Given the description of an element on the screen output the (x, y) to click on. 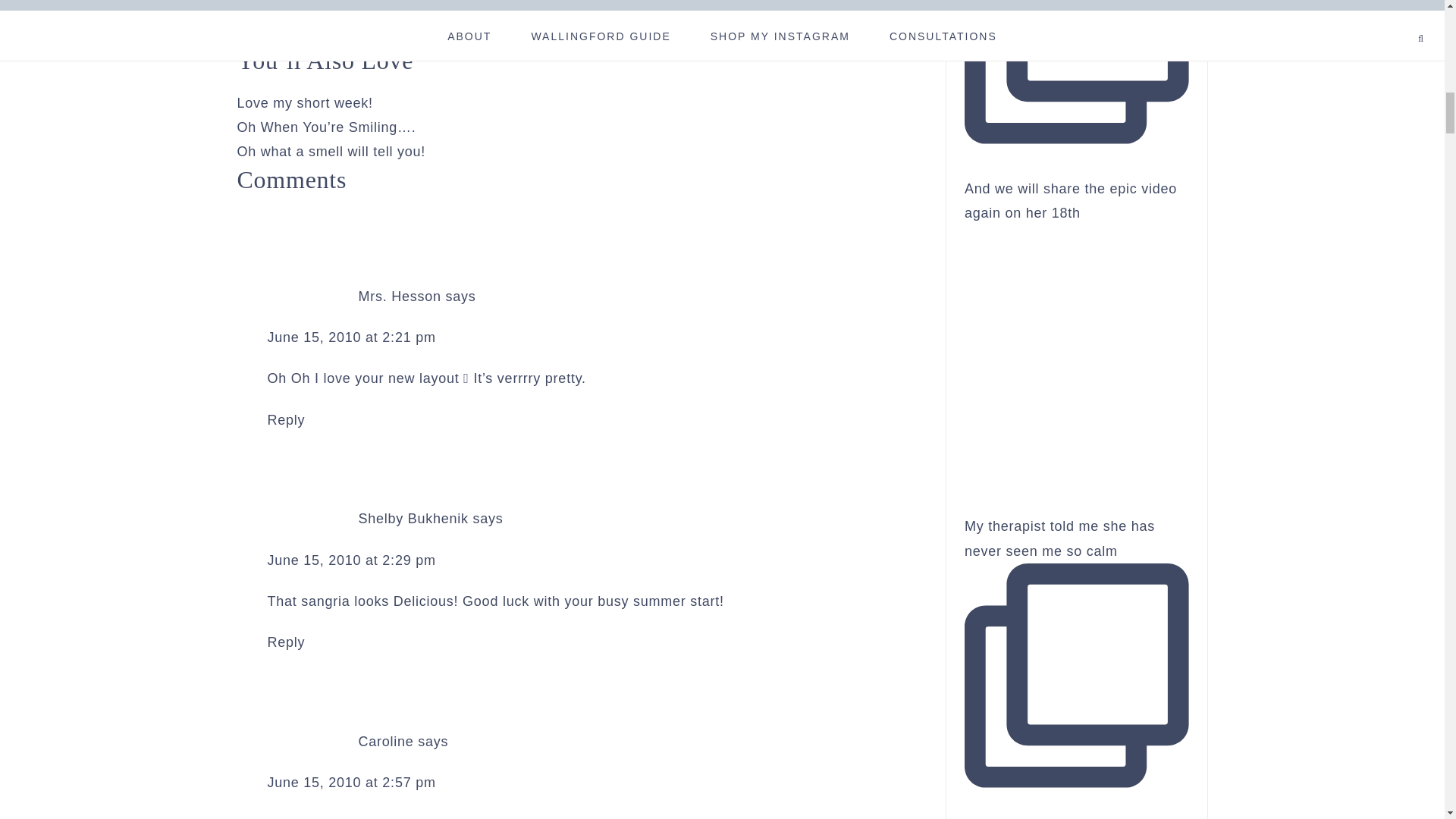
Subscribe (287, 16)
Subscribe (287, 16)
Permanent Link to Love my short week! (303, 102)
Permanent Link to Oh what a smell will tell you! (330, 151)
